Given the description of an element on the screen output the (x, y) to click on. 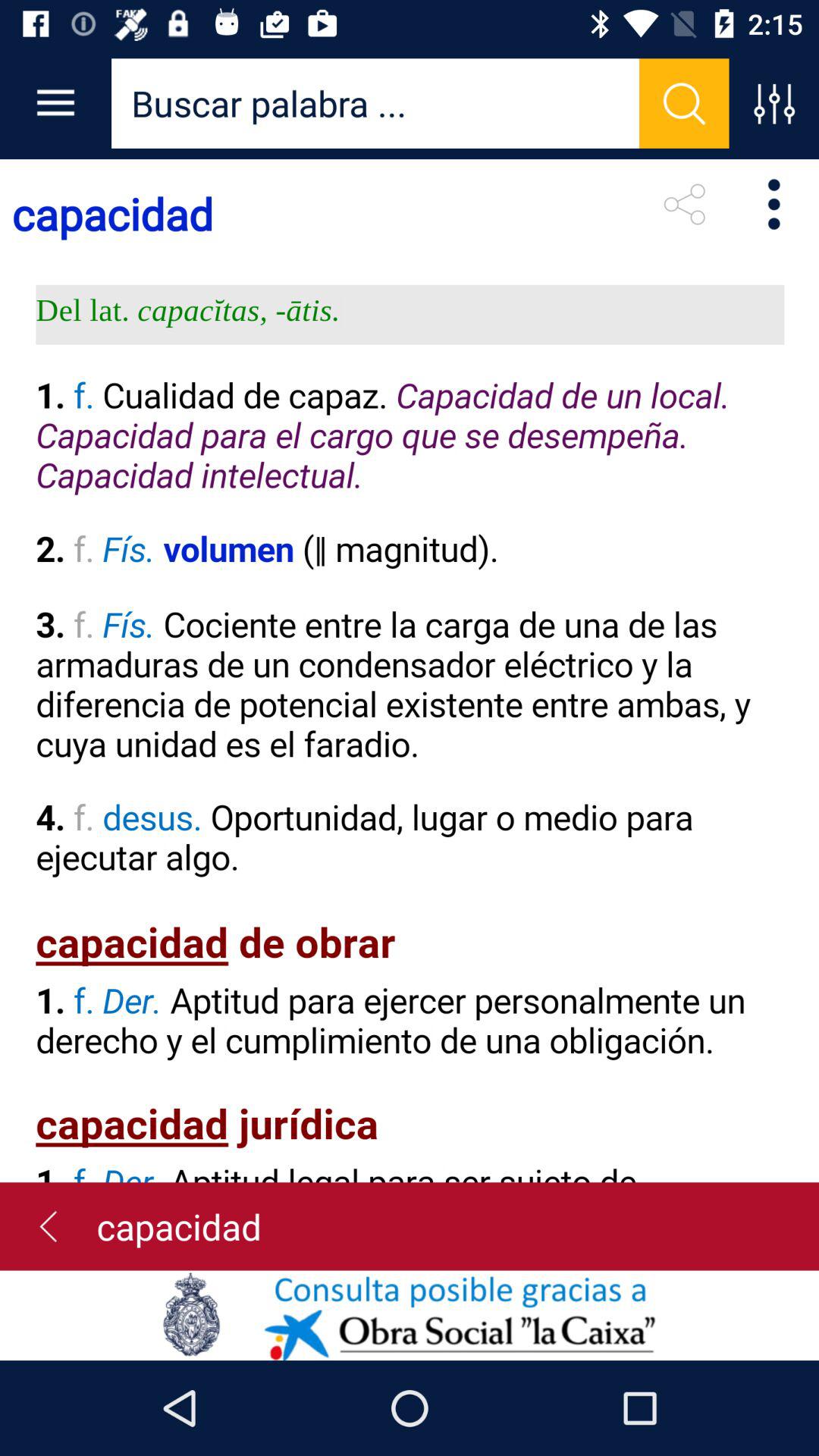
open more options menu (774, 103)
